Given the description of an element on the screen output the (x, y) to click on. 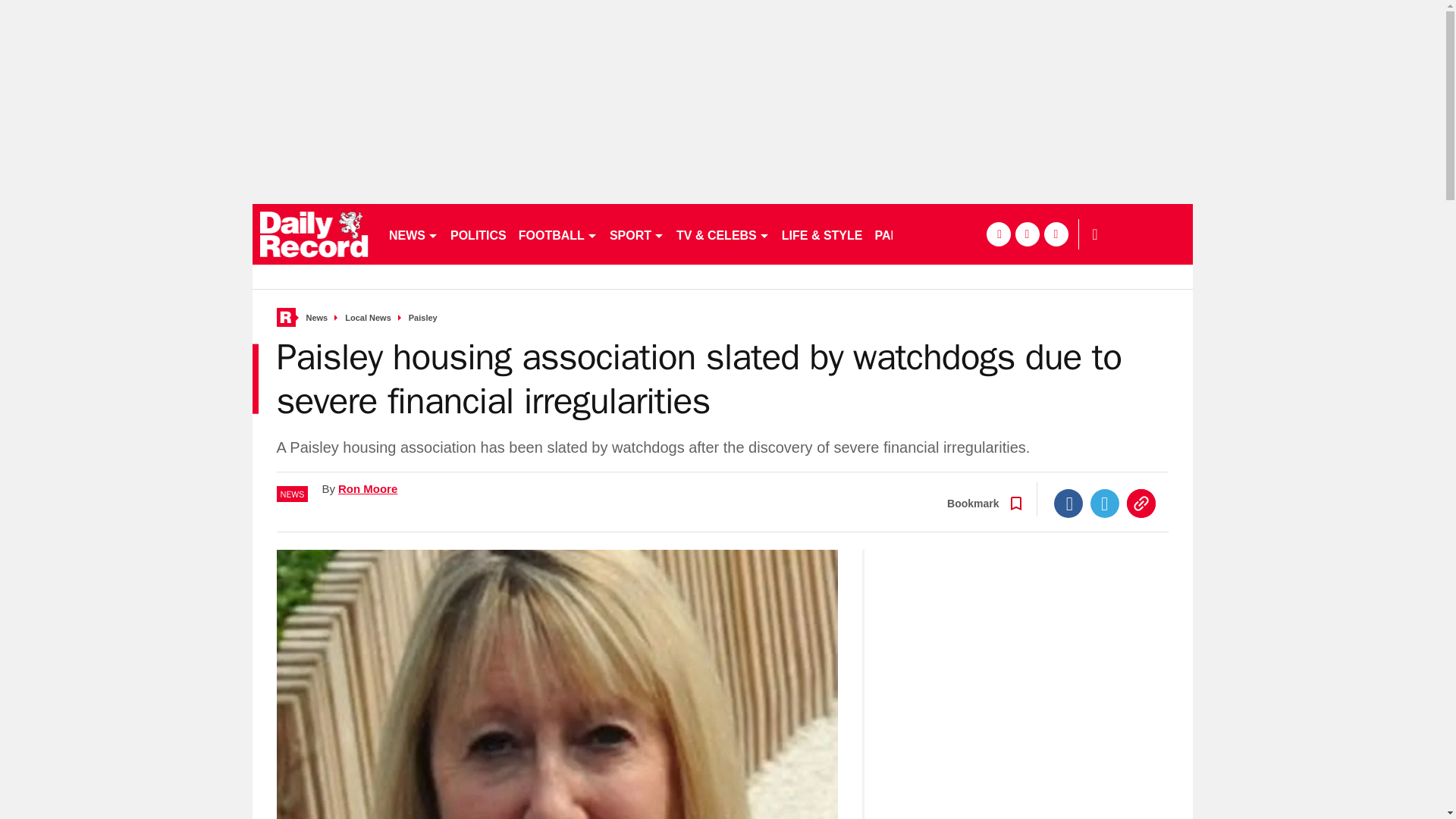
Twitter (1104, 502)
dailyrecord (313, 233)
NEWS (413, 233)
SPORT (636, 233)
Facebook (1068, 502)
twitter (1026, 233)
FOOTBALL (558, 233)
facebook (997, 233)
instagram (1055, 233)
POLITICS (478, 233)
